Given the description of an element on the screen output the (x, y) to click on. 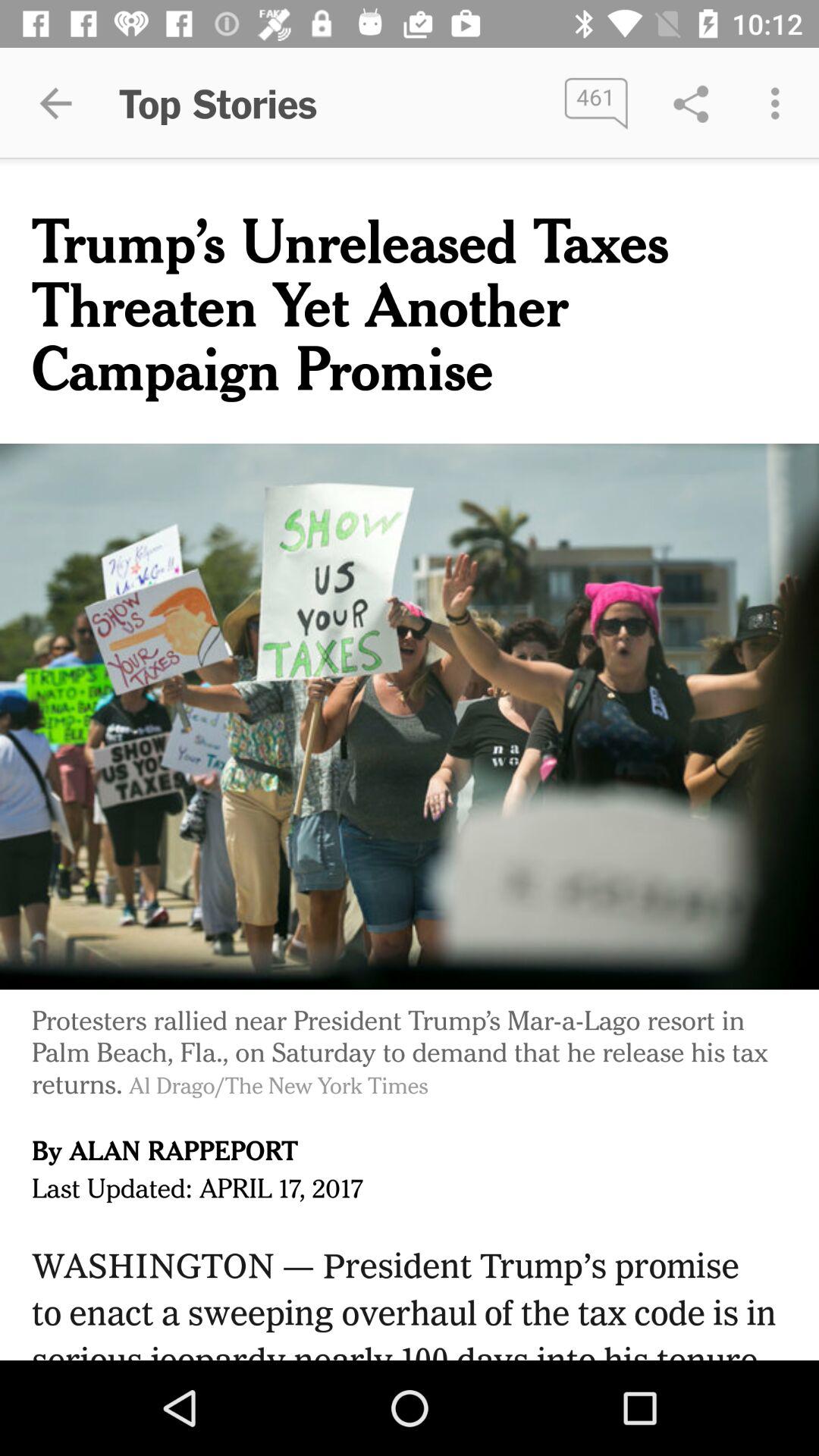
tap the app to the right of the top stories (595, 103)
